Given the description of an element on the screen output the (x, y) to click on. 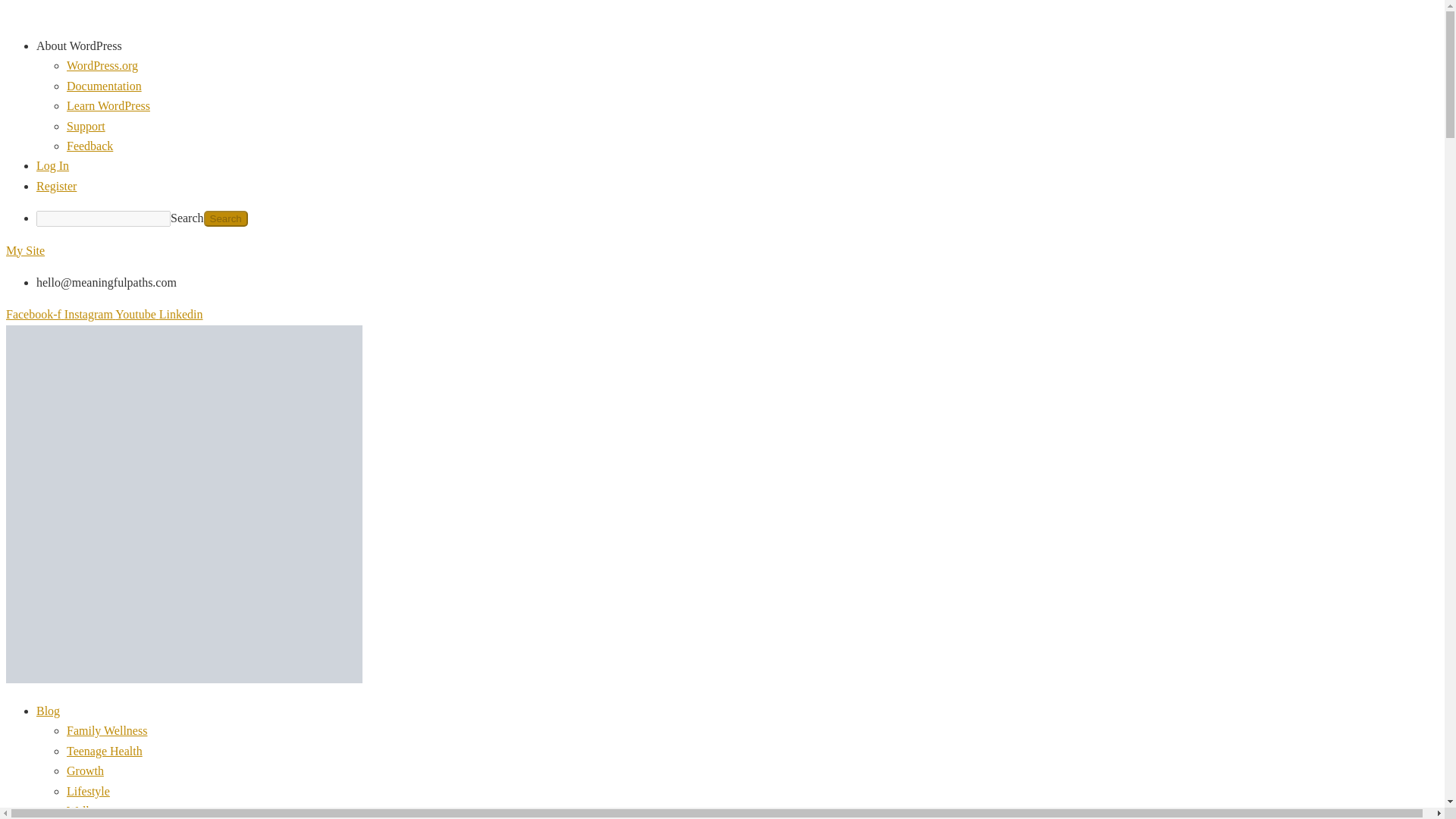
Learn WordPress (107, 105)
Search (225, 218)
Log In (52, 164)
Register (56, 185)
Support (85, 125)
Teenage Health (104, 750)
Family Wellness (106, 730)
My Site (25, 250)
Lifestyle (88, 790)
Facebook-f (34, 314)
